Given the description of an element on the screen output the (x, y) to click on. 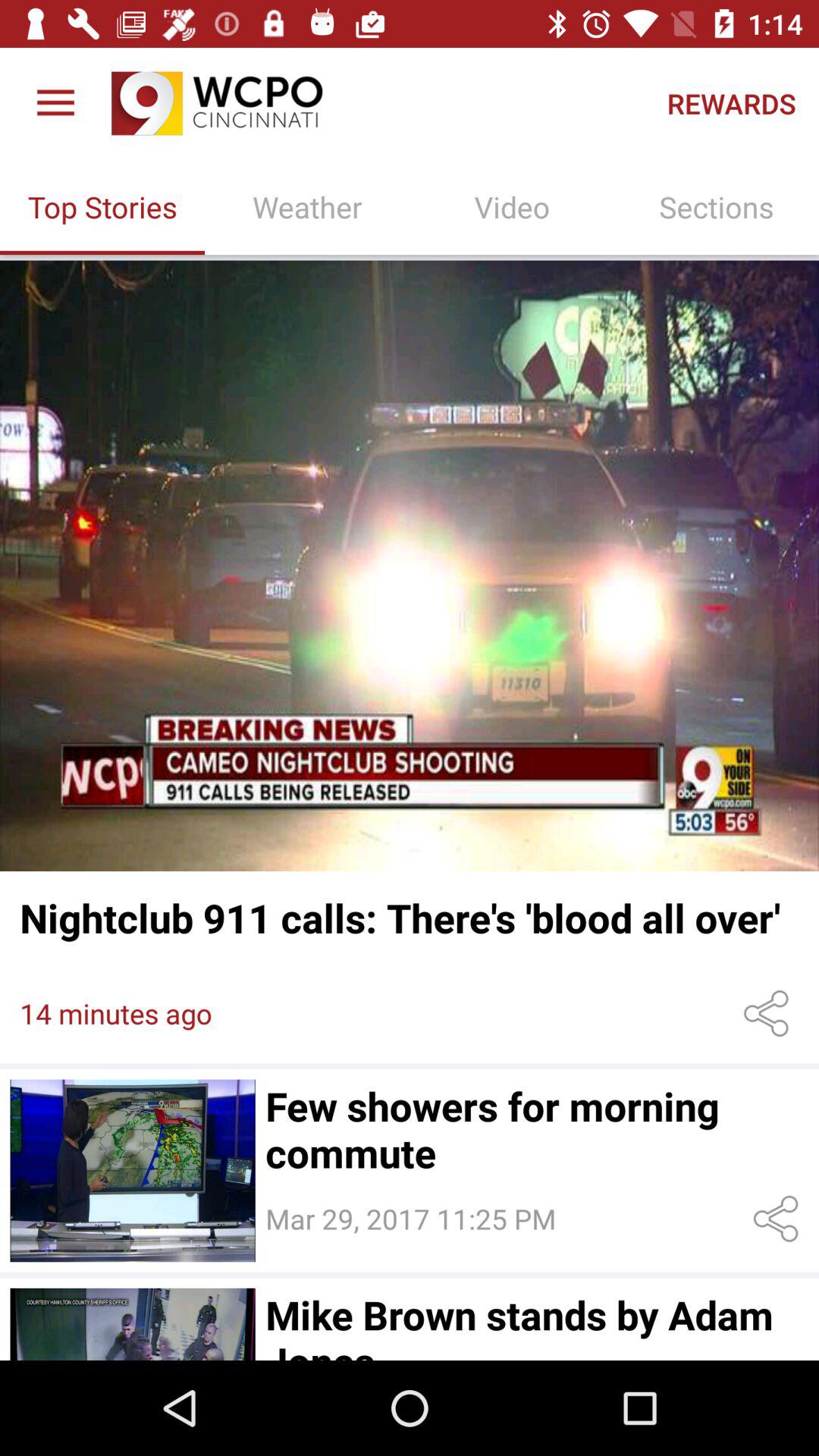
share (778, 1218)
